Given the description of an element on the screen output the (x, y) to click on. 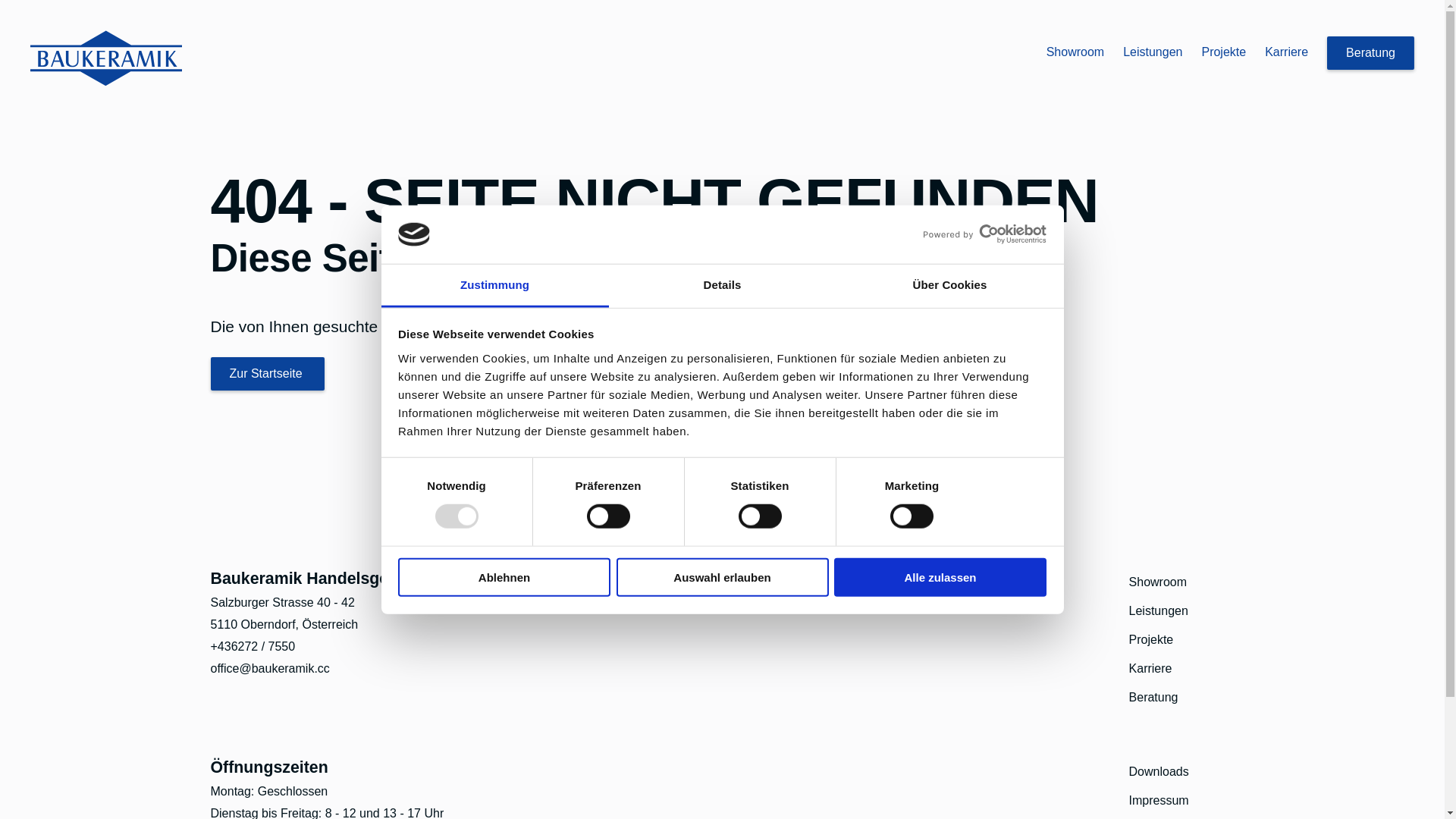
Projekte Element type: text (1151, 639)
Zur Startseite Element type: text (267, 373)
Alle zulassen Element type: text (940, 577)
Karriere Element type: text (1150, 668)
Baukeramik Element type: hover (106, 57)
Leistungen Element type: text (1158, 610)
Zustimmung Element type: text (494, 285)
Impressum Element type: text (1159, 799)
Leistungen Element type: text (1152, 52)
Downloads Element type: text (1159, 771)
Karriere Element type: text (1286, 52)
Auswahl erlauben Element type: text (721, 577)
Projekte Element type: text (1223, 52)
office@baukeramik.cc Element type: text (269, 668)
+436272 / 7550 Element type: text (252, 646)
Details Element type: text (721, 285)
Beratung Element type: text (1153, 696)
Showroom Element type: text (1075, 52)
Showroom Element type: text (1157, 581)
Ablehnen Element type: text (504, 577)
Beratung Element type: text (1370, 52)
